Given the description of an element on the screen output the (x, y) to click on. 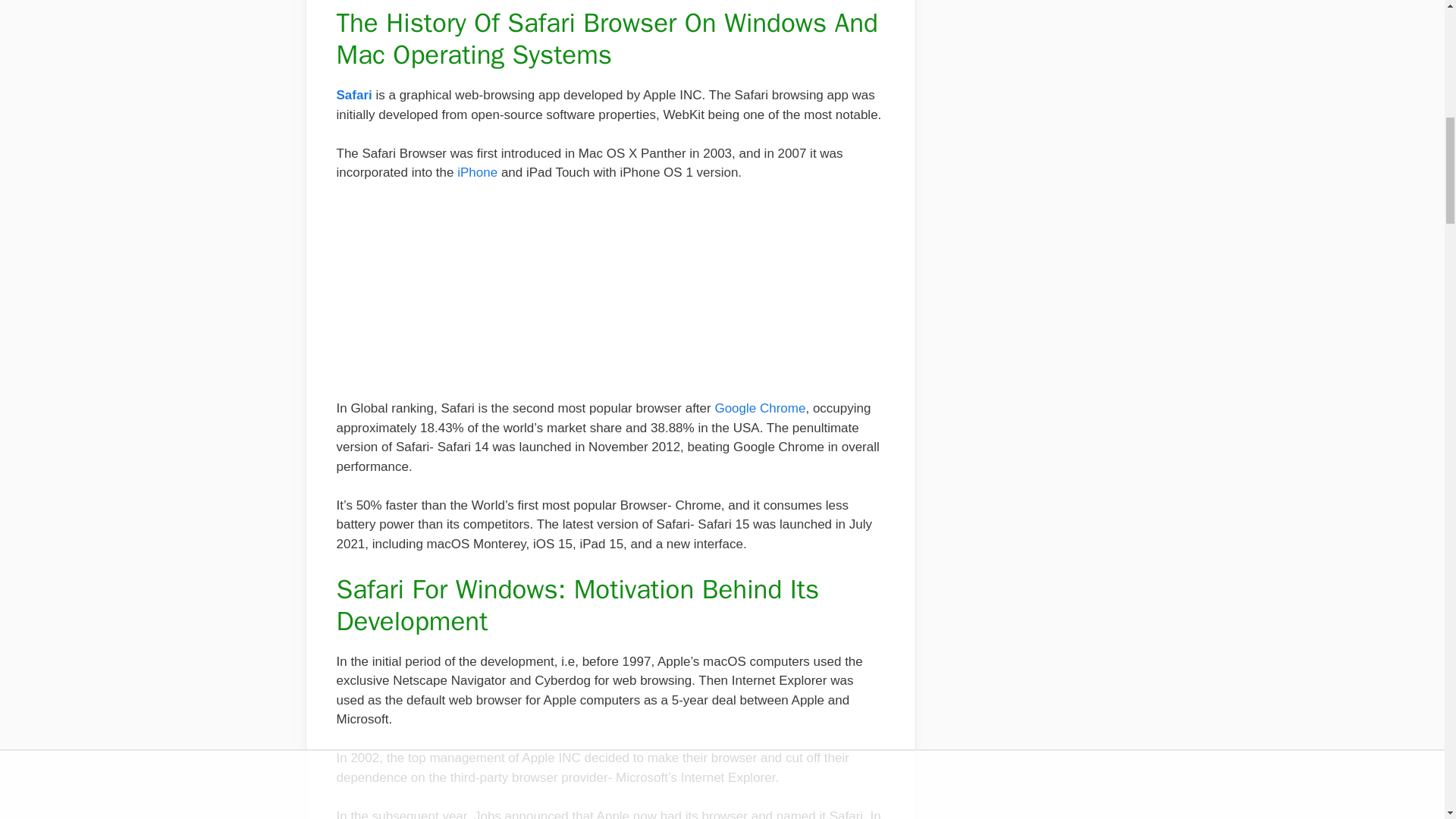
Google Chrome (759, 408)
Google Chrome (759, 408)
Scroll back to top (1406, 720)
iPhone (477, 172)
Safari (355, 94)
